Given the description of an element on the screen output the (x, y) to click on. 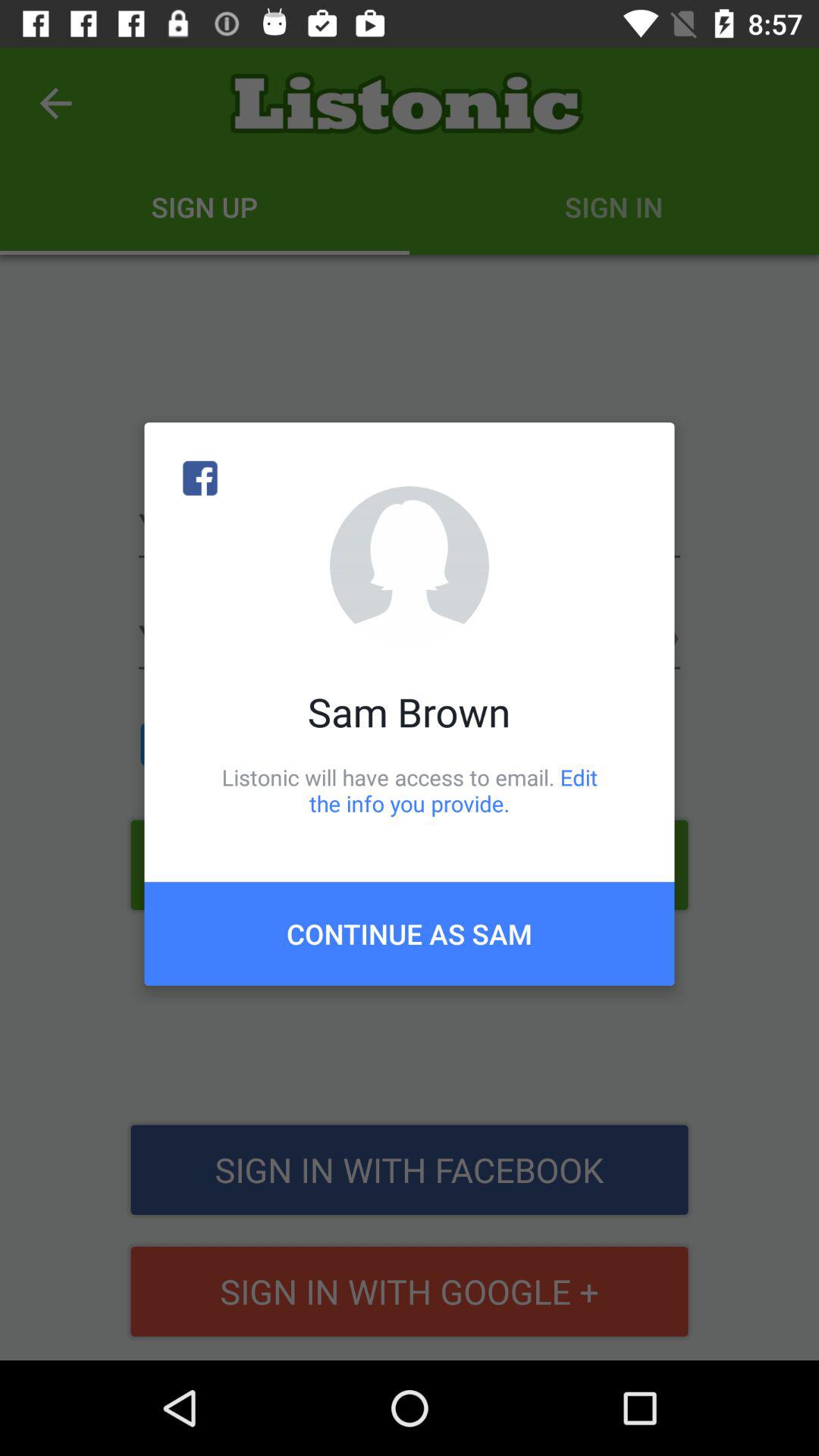
press the item below sam brown item (409, 790)
